Given the description of an element on the screen output the (x, y) to click on. 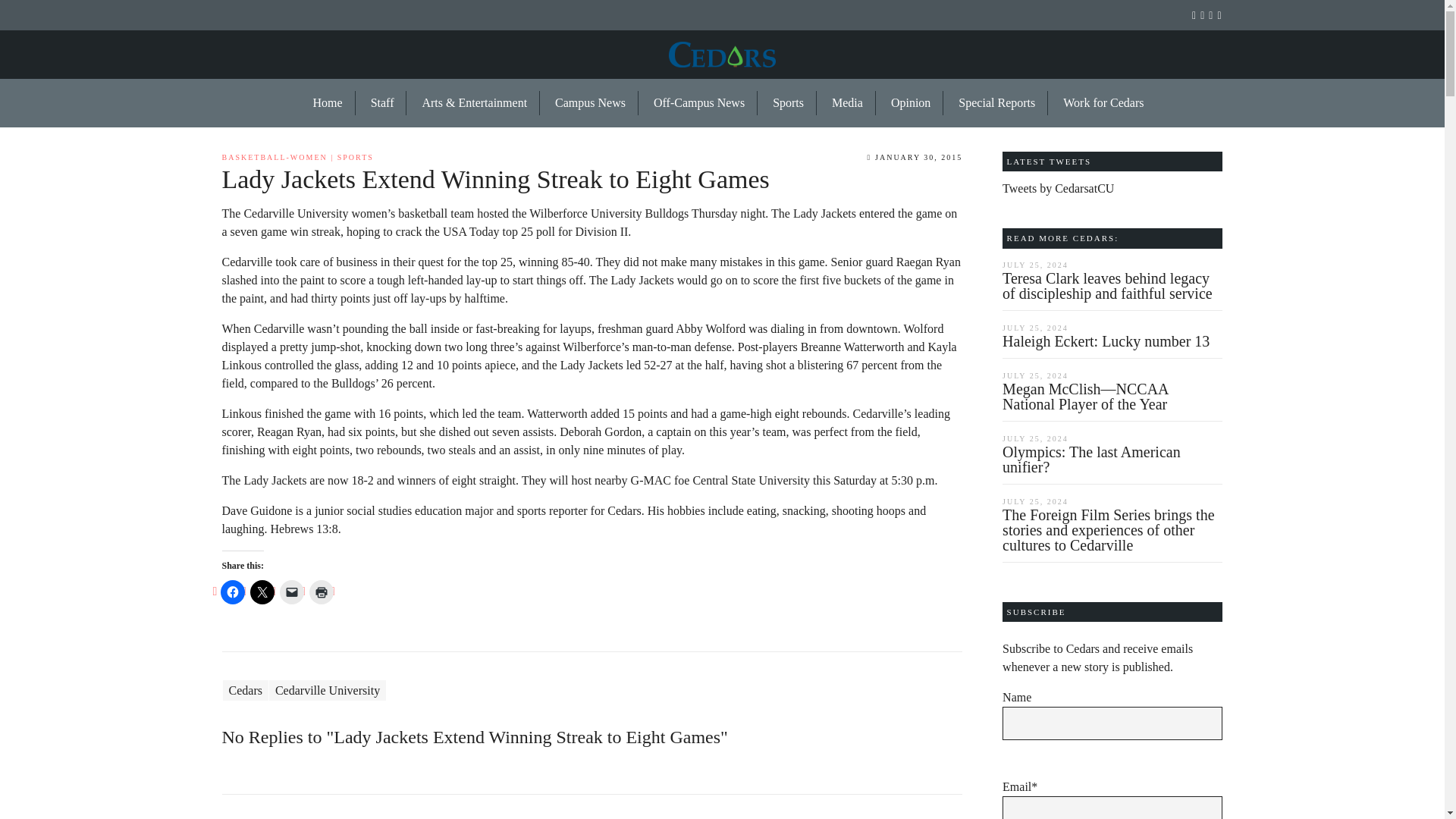
Click to share on Facebook (232, 591)
Home (328, 102)
Click to email a link to a friend (291, 591)
Campus News (591, 102)
Click to print (320, 591)
Opinion (911, 102)
JANUARY 30, 2015 (914, 157)
Staff (382, 102)
Click to share on X (262, 591)
Special Reports (997, 102)
